Given the description of an element on the screen output the (x, y) to click on. 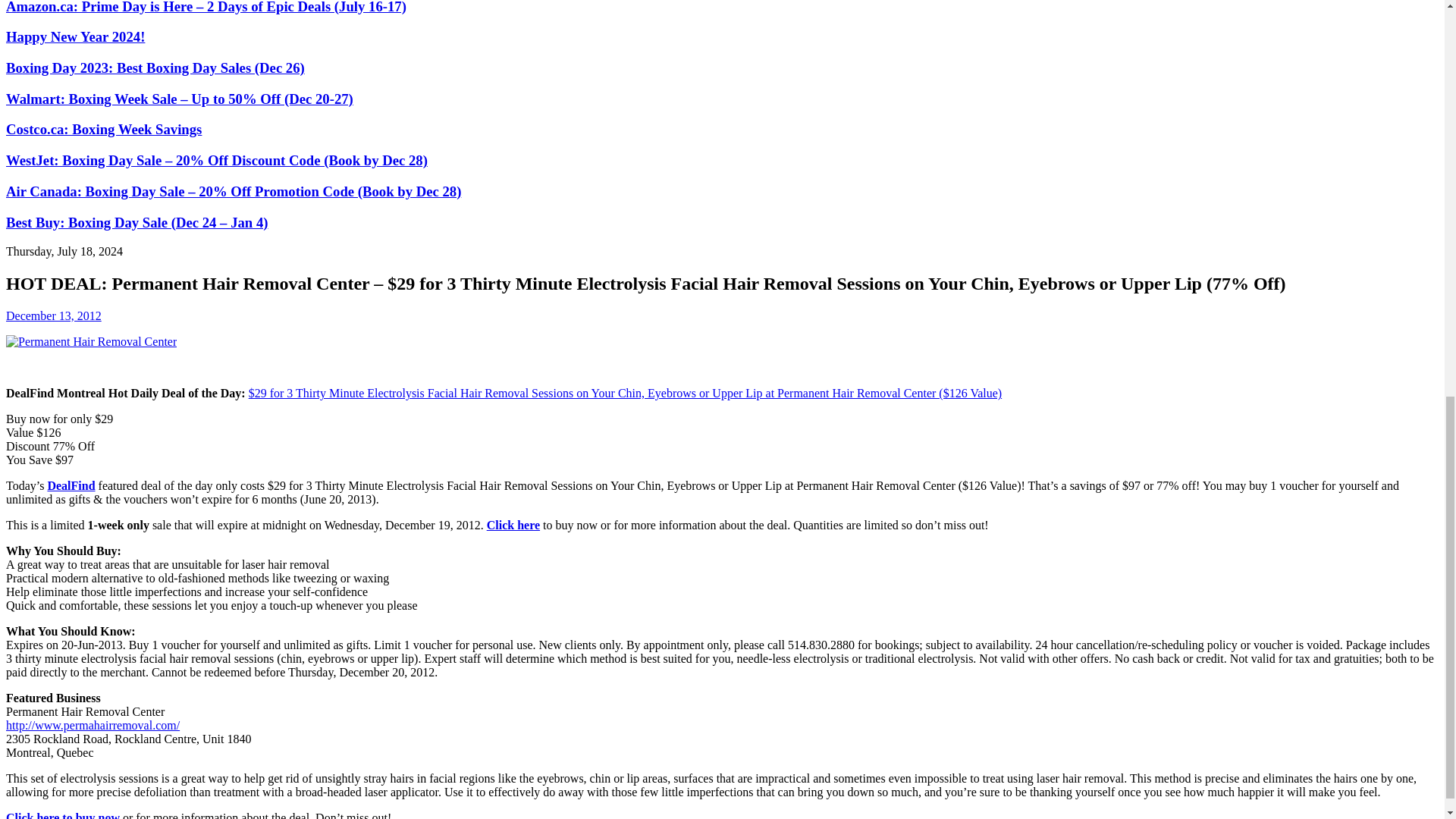
Costco.ca: Boxing Week Savings (103, 129)
Happy New Year 2024! (74, 36)
